Given the description of an element on the screen output the (x, y) to click on. 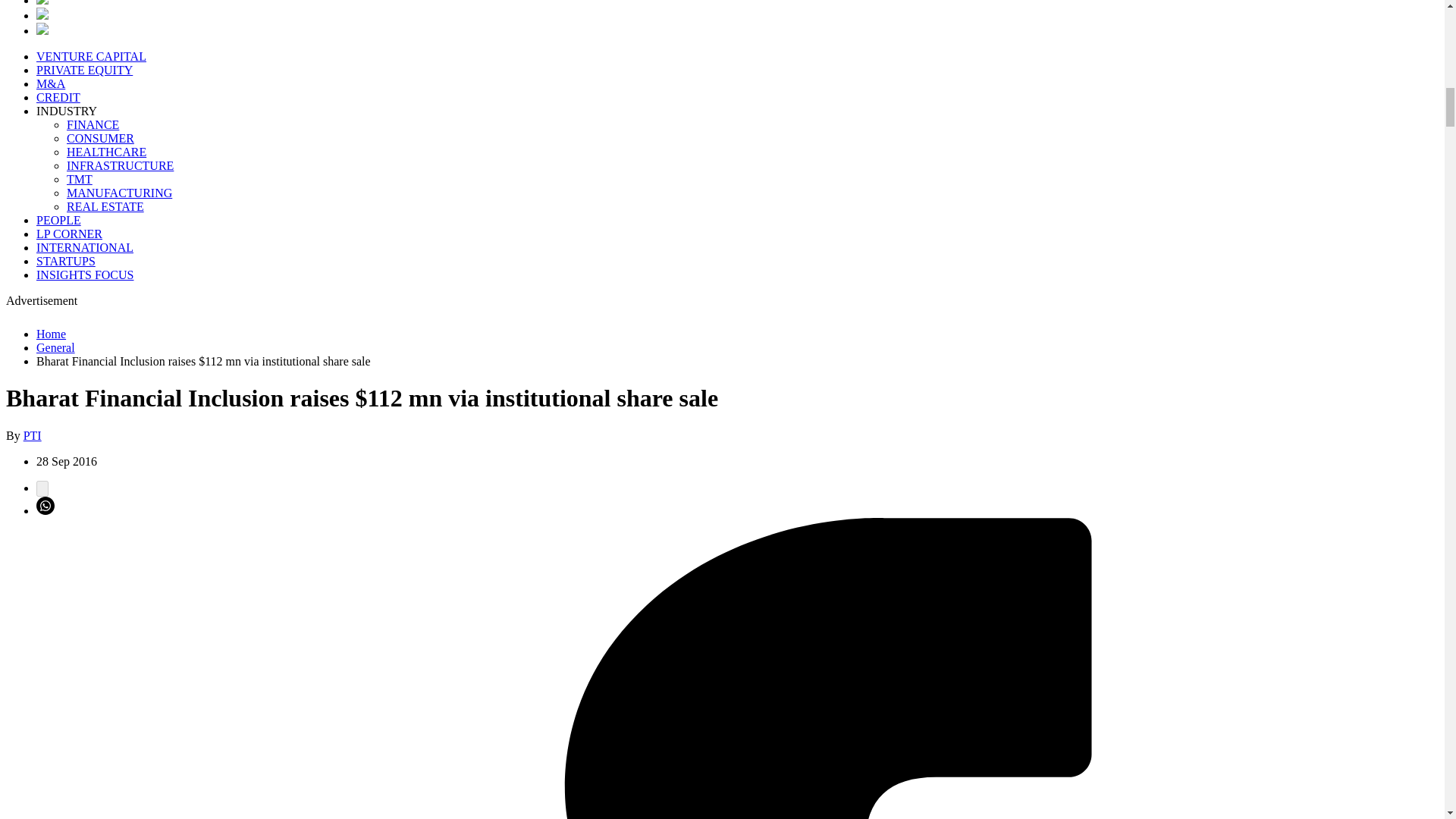
HEALTHCARE (106, 151)
INTERNATIONAL (84, 246)
CONSUMER (99, 137)
LP CORNER (68, 233)
REAL ESTATE (105, 205)
INDUSTRY (66, 110)
VENTURE CAPITAL (91, 56)
PEOPLE (58, 219)
FINANCE (92, 124)
TMT (79, 178)
